Given the description of an element on the screen output the (x, y) to click on. 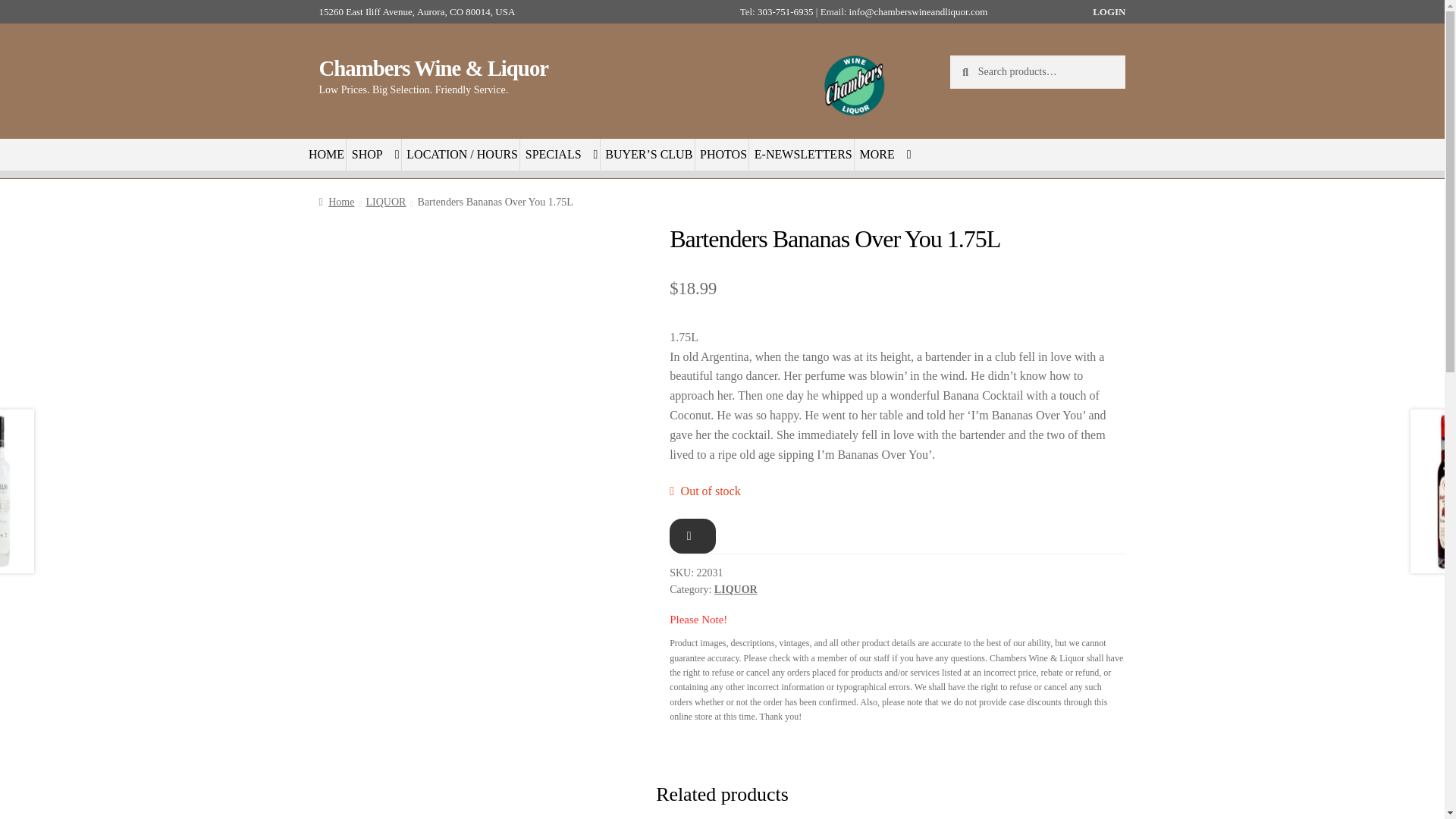
HOME (327, 154)
LOGIN (1109, 11)
303-751-6935 (785, 11)
SHOP (375, 154)
15260 East Iliff Avenue, Aurora, CO 80014, USA     (421, 11)
